Given the description of an element on the screen output the (x, y) to click on. 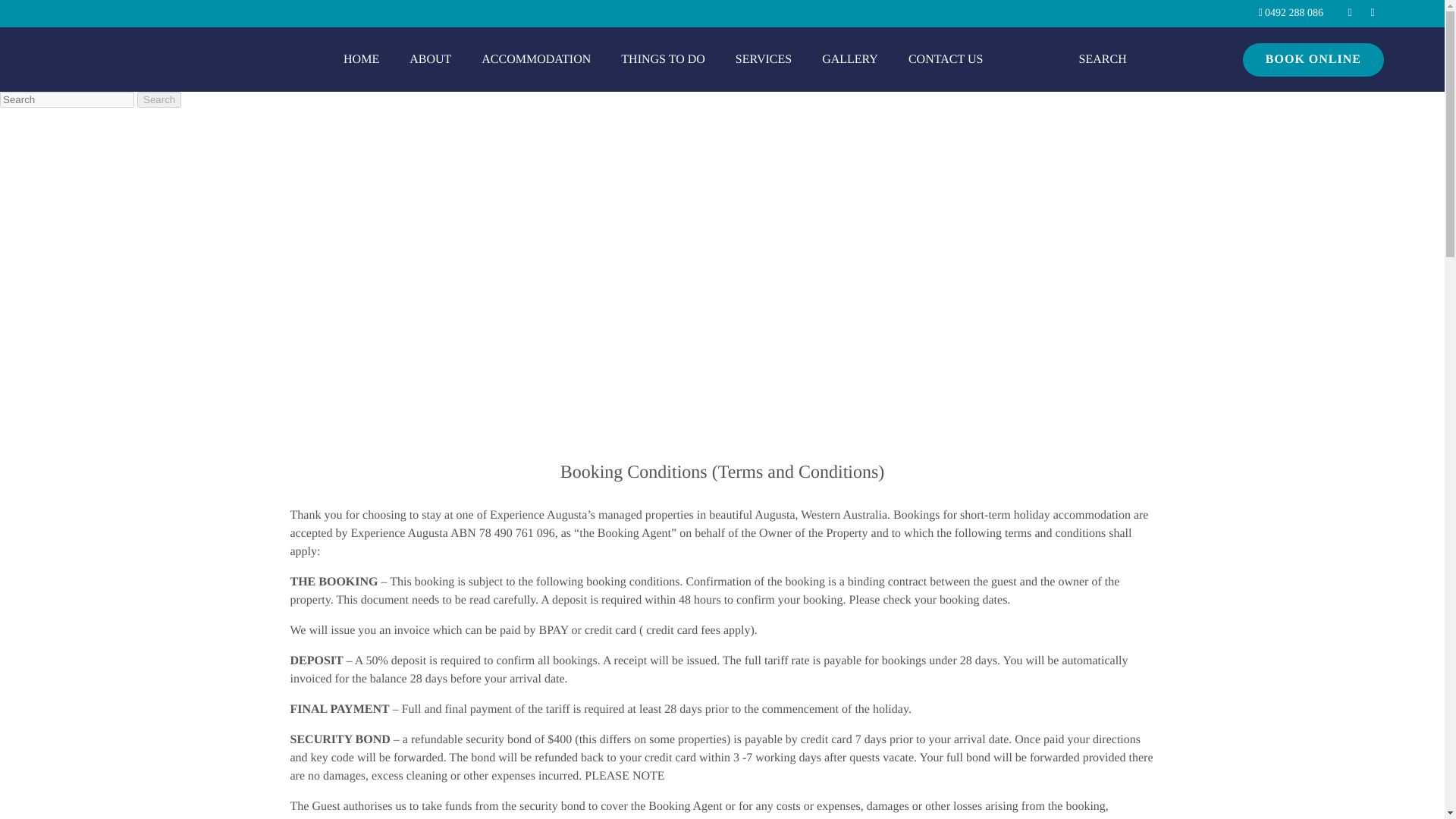
Search (810, 9)
0492 288 086 (1319, 13)
BOOK ONLINE (1352, 70)
